Given the description of an element on the screen output the (x, y) to click on. 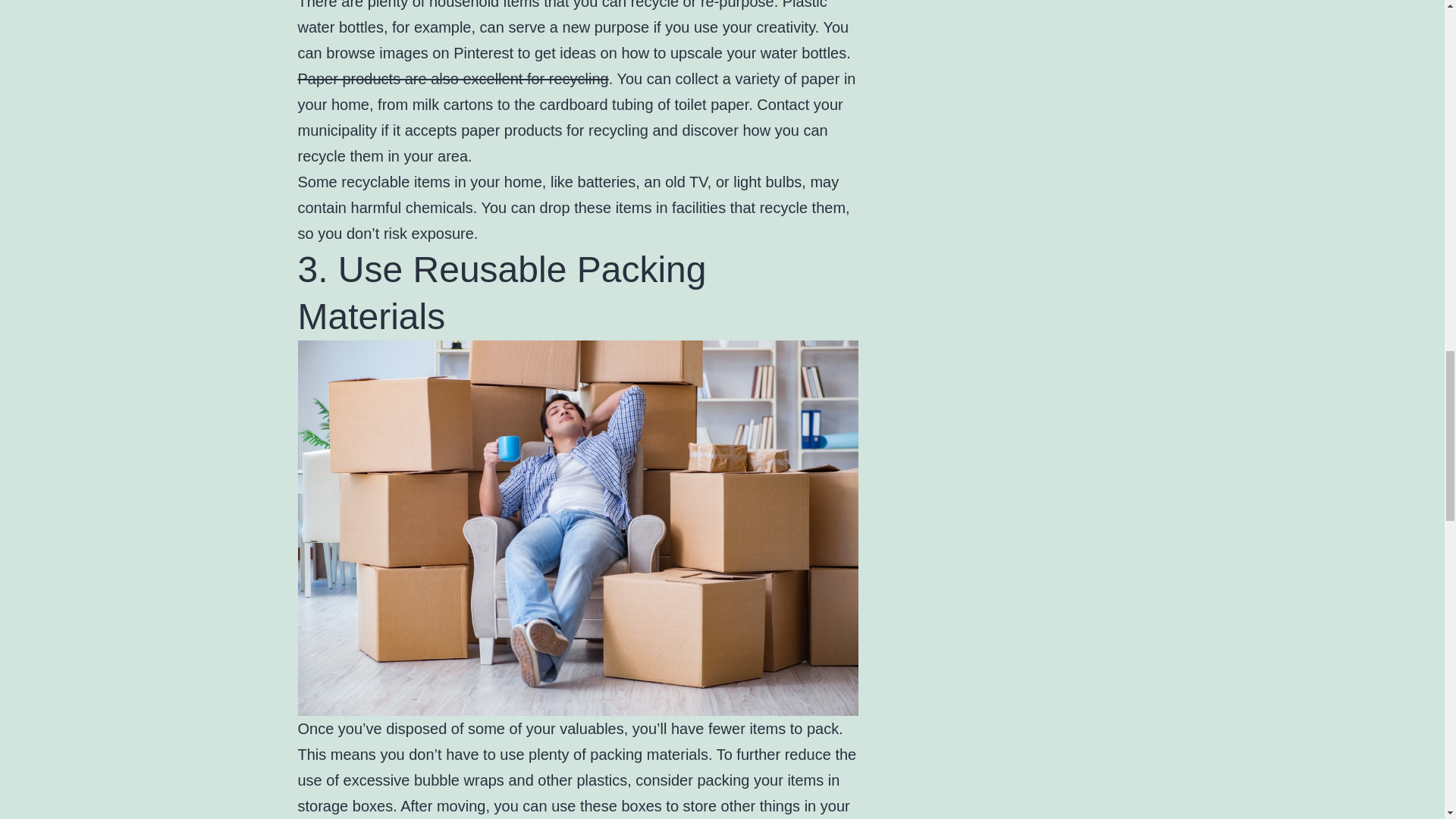
Paper products are also excellent for recycling (452, 78)
household items that you can recycle (553, 4)
Green Child Magazine (553, 4)
